Given the description of an element on the screen output the (x, y) to click on. 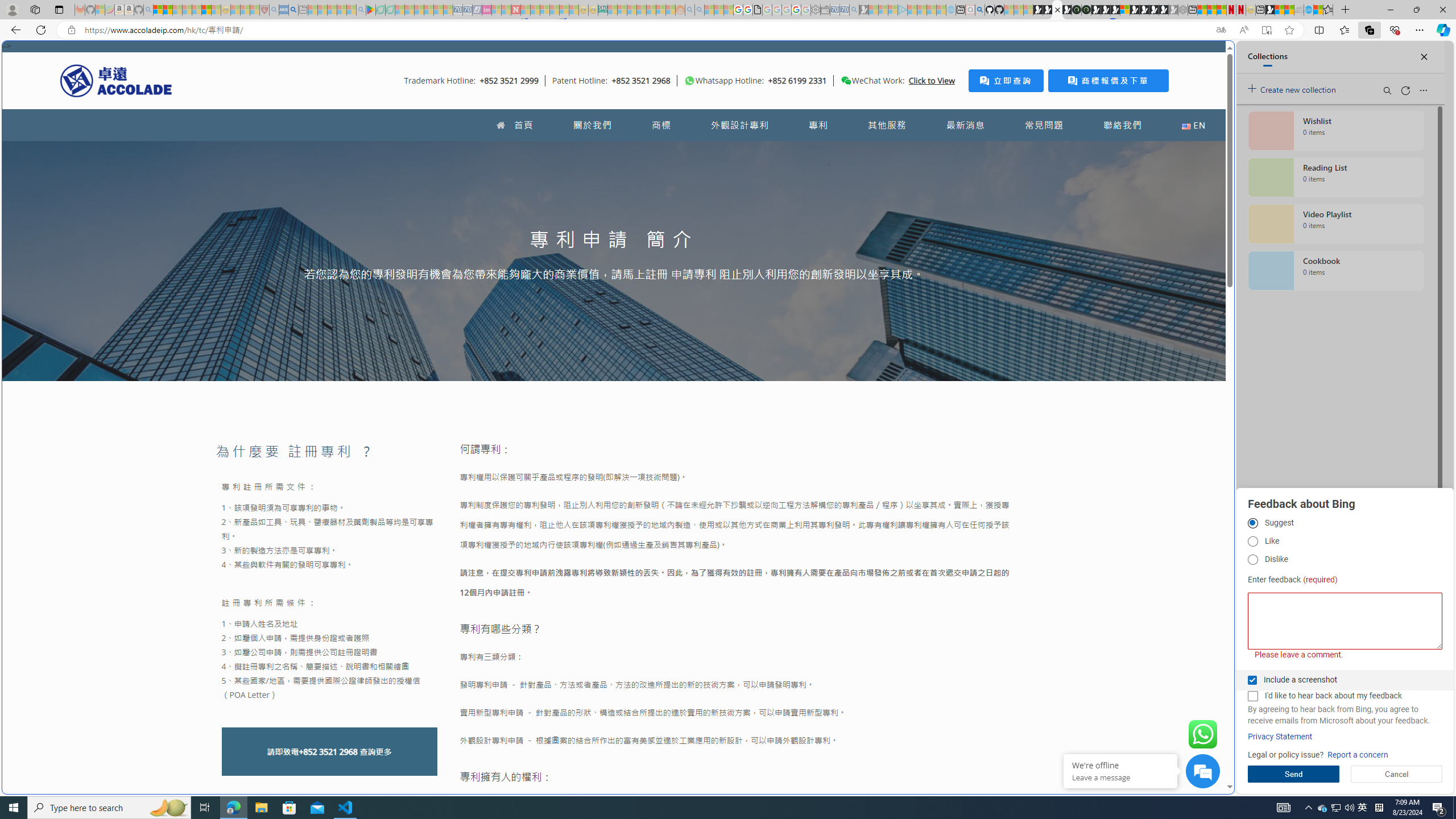
Pets - MSN - Sleeping (340, 9)
Privacy Statement (1280, 737)
Home | Sky Blue Bikes - Sky Blue Bikes (1118, 242)
Search or enter web address (922, 108)
